Given the description of an element on the screen output the (x, y) to click on. 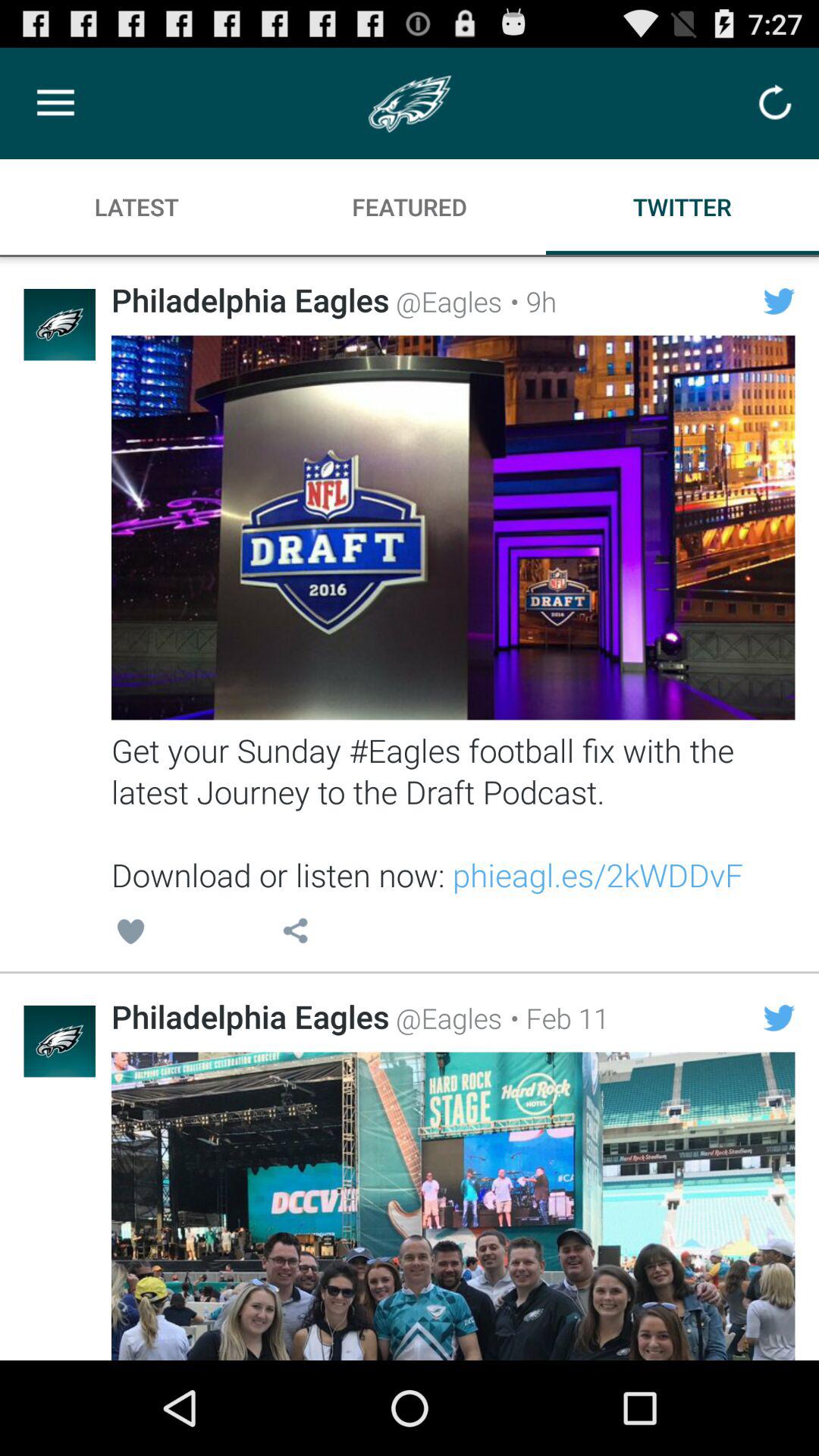
twitter link (453, 1206)
